Given the description of an element on the screen output the (x, y) to click on. 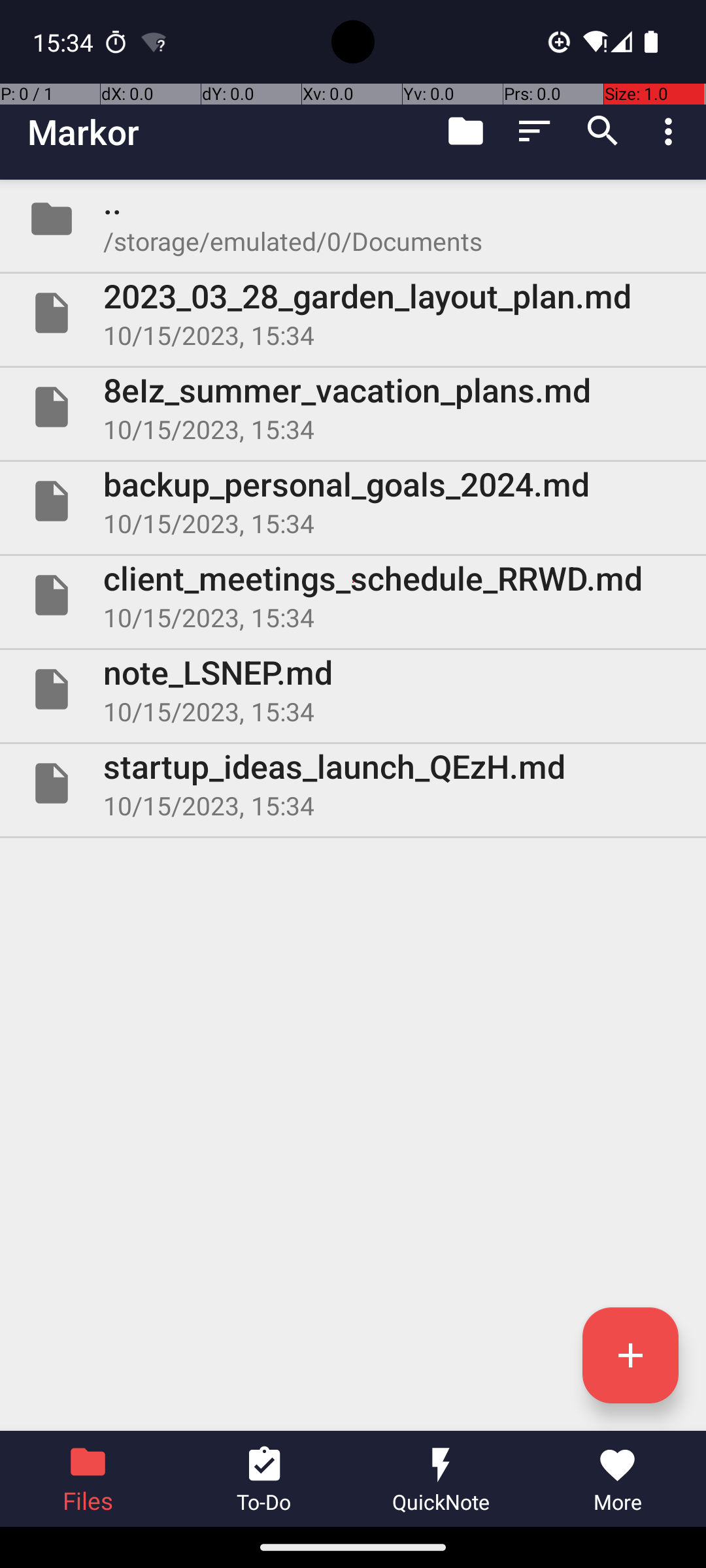
File 2023_03_28_garden_layout_plan.md  Element type: android.widget.LinearLayout (353, 312)
File 8eIz_summer_vacation_plans.md  Element type: android.widget.LinearLayout (353, 406)
File backup_personal_goals_2024.md  Element type: android.widget.LinearLayout (353, 500)
File client_meetings_schedule_RRWD.md  Element type: android.widget.LinearLayout (353, 594)
File note_LSNEP.md  Element type: android.widget.LinearLayout (353, 689)
File startup_ideas_launch_QEzH.md  Element type: android.widget.LinearLayout (353, 783)
